Given the description of an element on the screen output the (x, y) to click on. 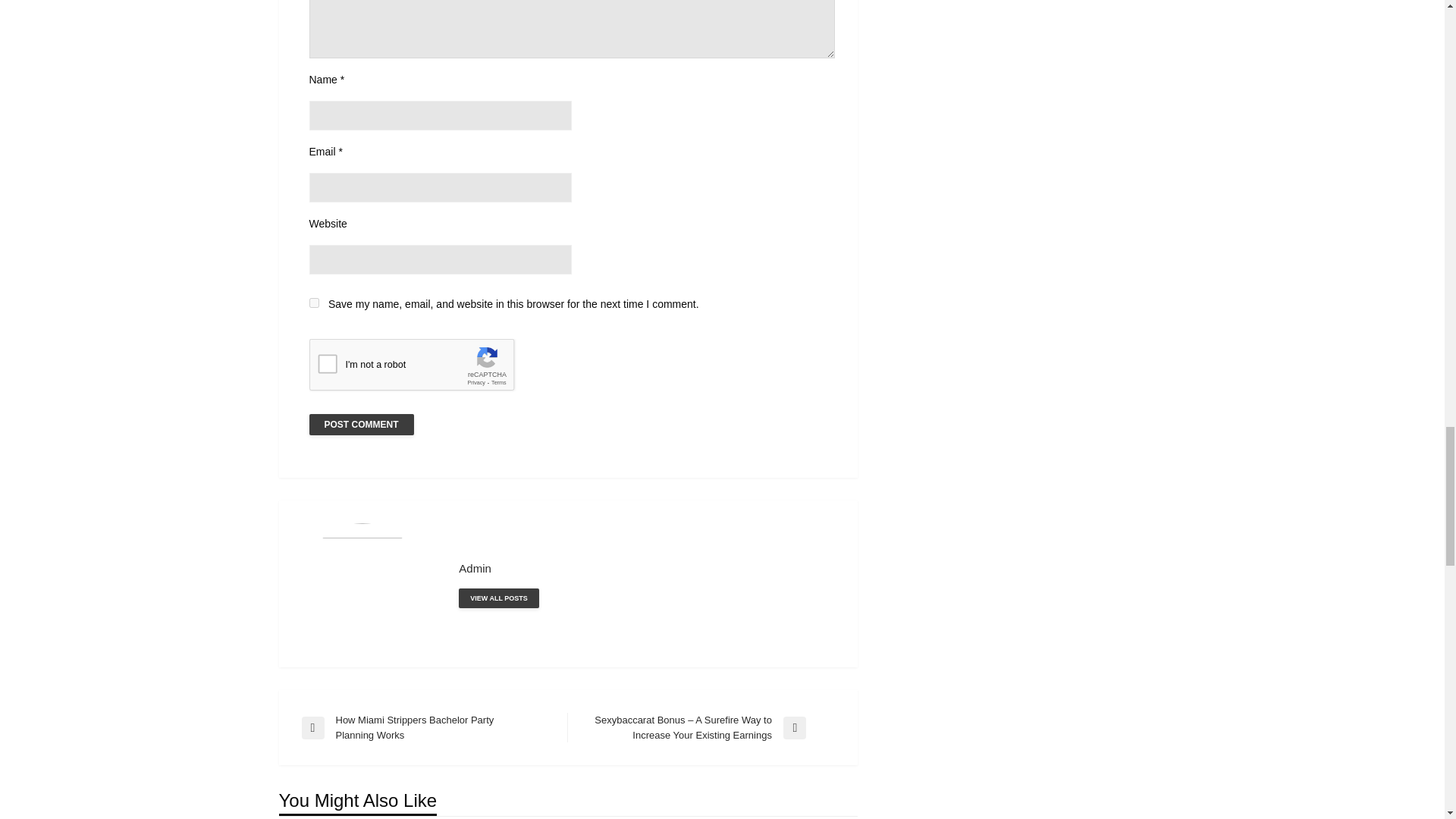
admin (498, 598)
reCAPTCHA (424, 368)
yes (313, 302)
Post Comment (360, 424)
admin (646, 568)
Admin (646, 568)
Post Comment (360, 424)
VIEW ALL POSTS (498, 598)
